Given the description of an element on the screen output the (x, y) to click on. 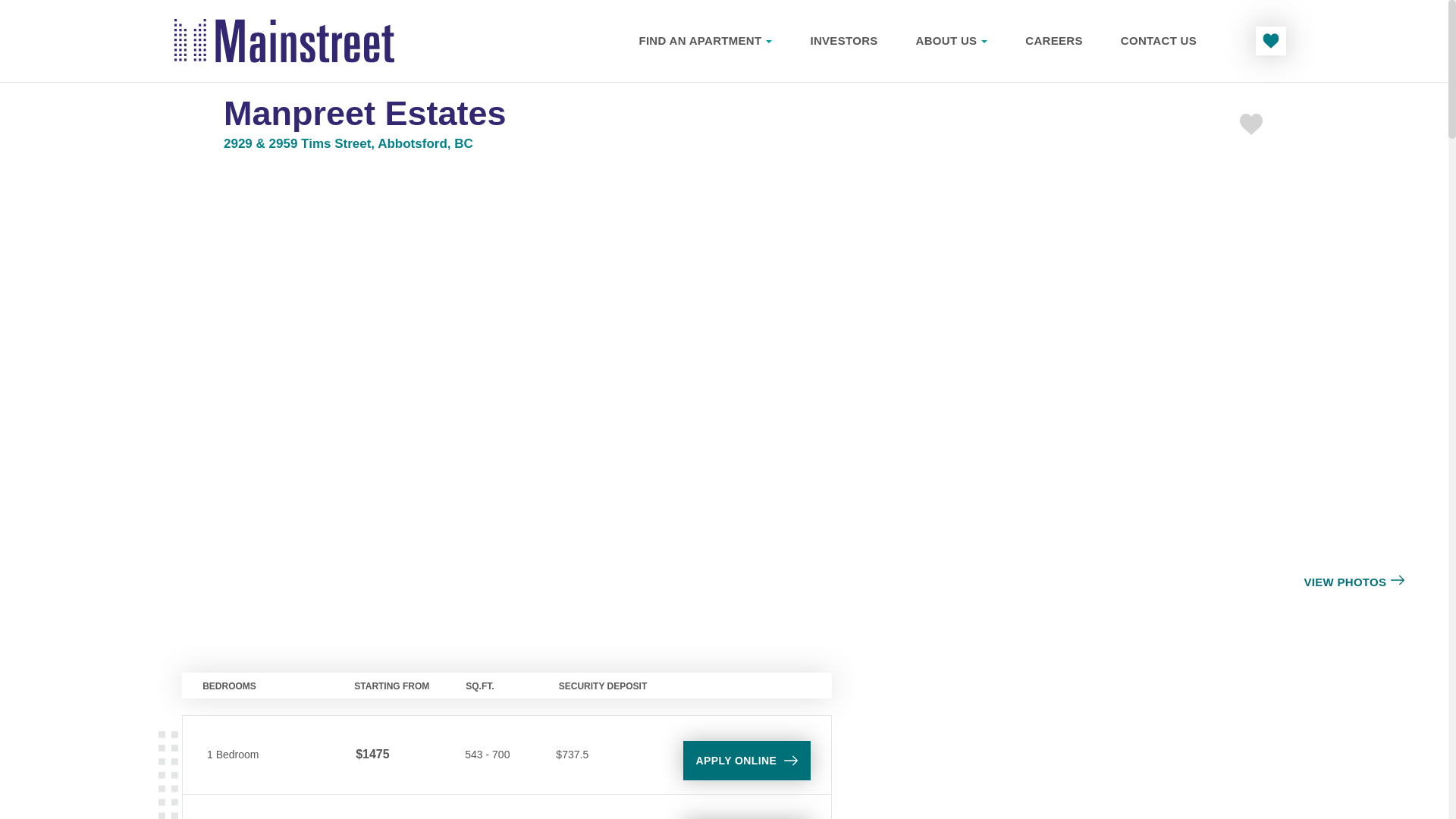
ABOUT US (951, 40)
Mainstreet Equity Corp. (284, 40)
INVESTORS (842, 40)
CONTACT US (1158, 40)
FIND AN APARTMENT (705, 40)
CAREERS (1053, 40)
Apply Online (746, 760)
